Given the description of an element on the screen output the (x, y) to click on. 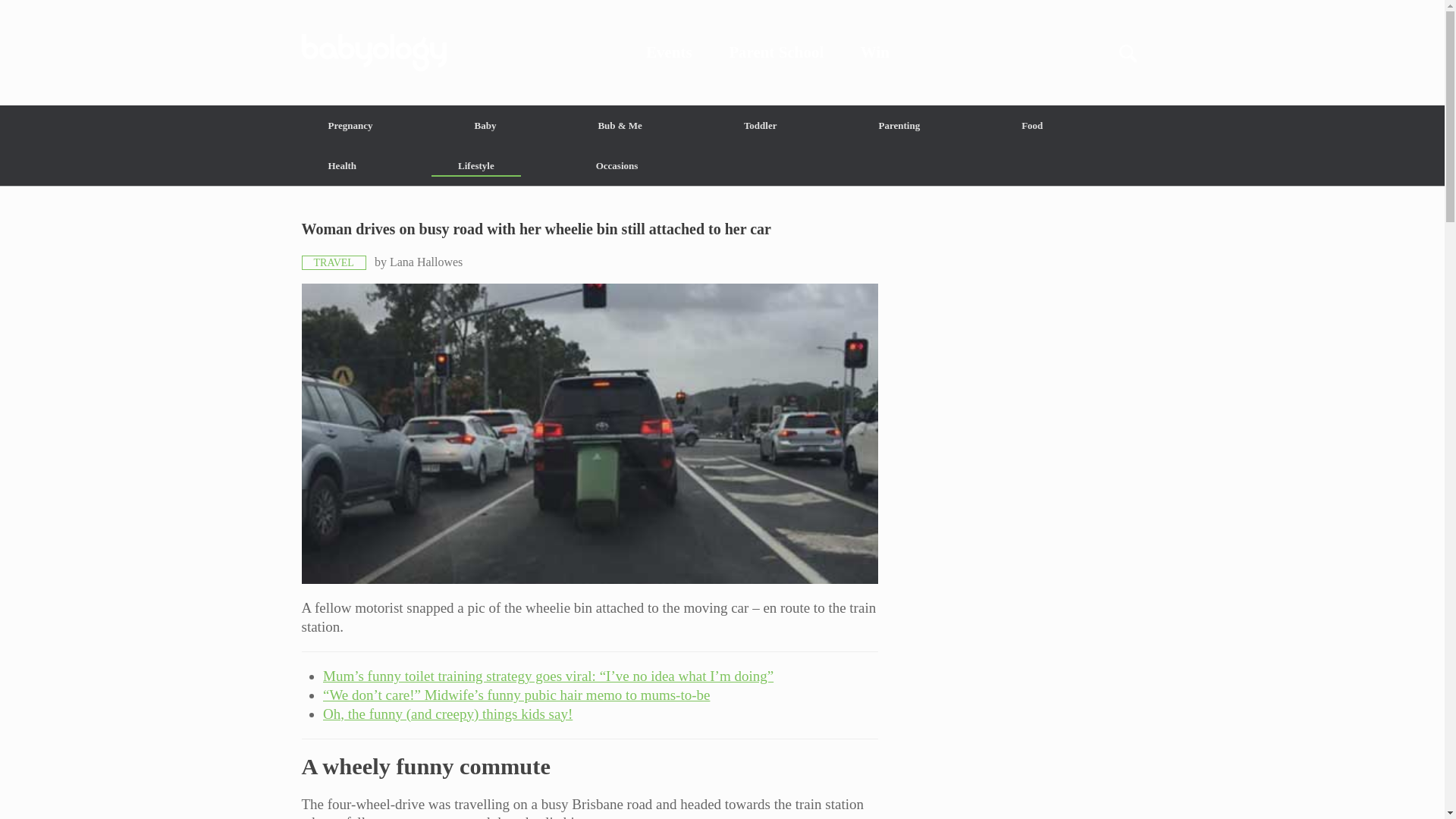
Health (342, 165)
Baby (484, 125)
Win (874, 52)
Occasions (617, 165)
Parenting (898, 125)
TRAVEL (333, 262)
Events (669, 52)
Parent School (776, 52)
Pregnancy (349, 125)
Food (1031, 125)
Toddler (760, 125)
View all posts by Lana Hallowes (426, 261)
Lifestyle (475, 165)
Babyology (721, 52)
Lana Hallowes (426, 261)
